Given the description of an element on the screen output the (x, y) to click on. 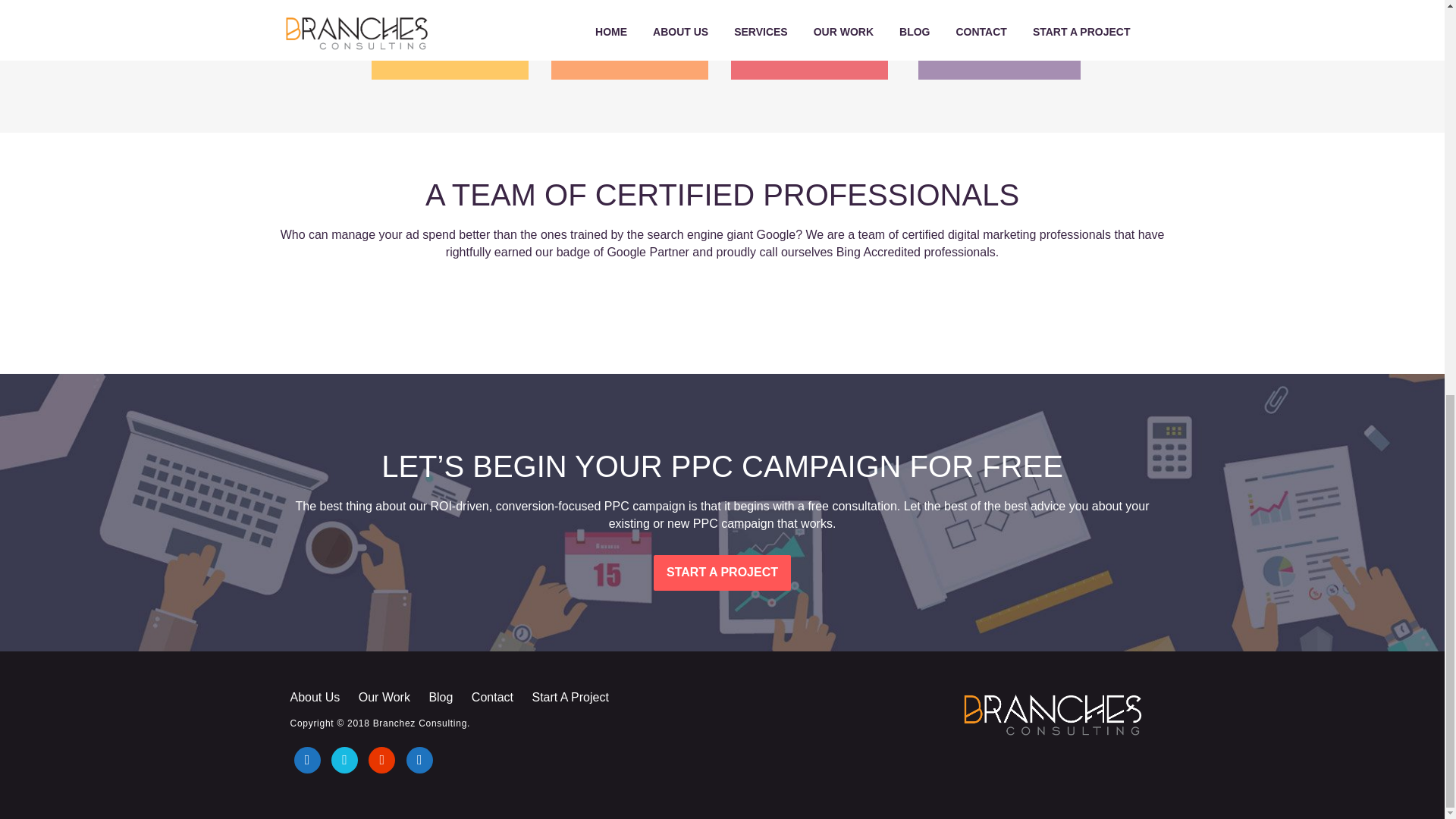
Start A Project (569, 697)
START A PROJECT (721, 572)
Blog (440, 697)
About Us (318, 697)
Contact (492, 697)
Our Work (383, 697)
